Given the description of an element on the screen output the (x, y) to click on. 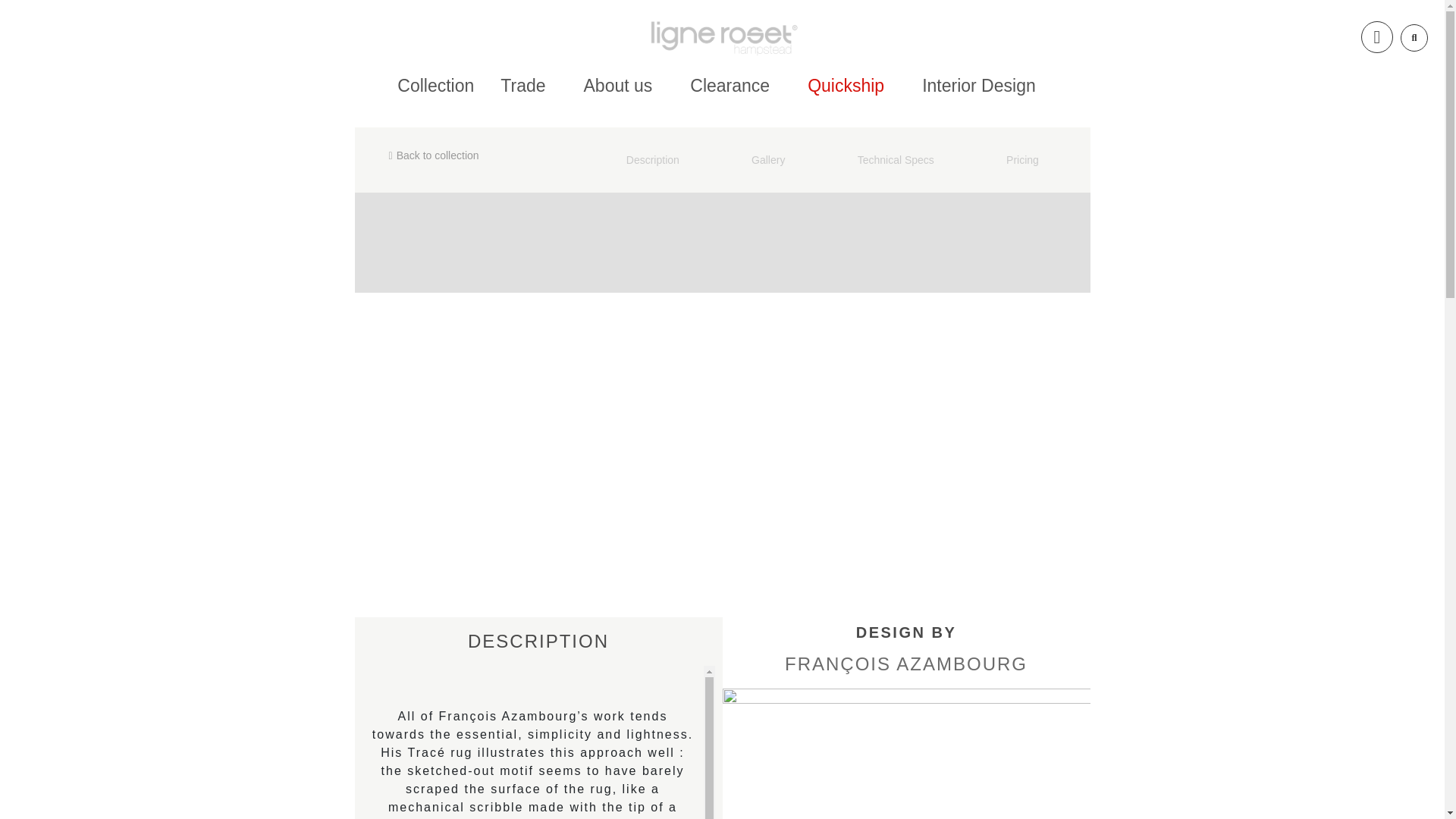
Collection (435, 86)
